Given the description of an element on the screen output the (x, y) to click on. 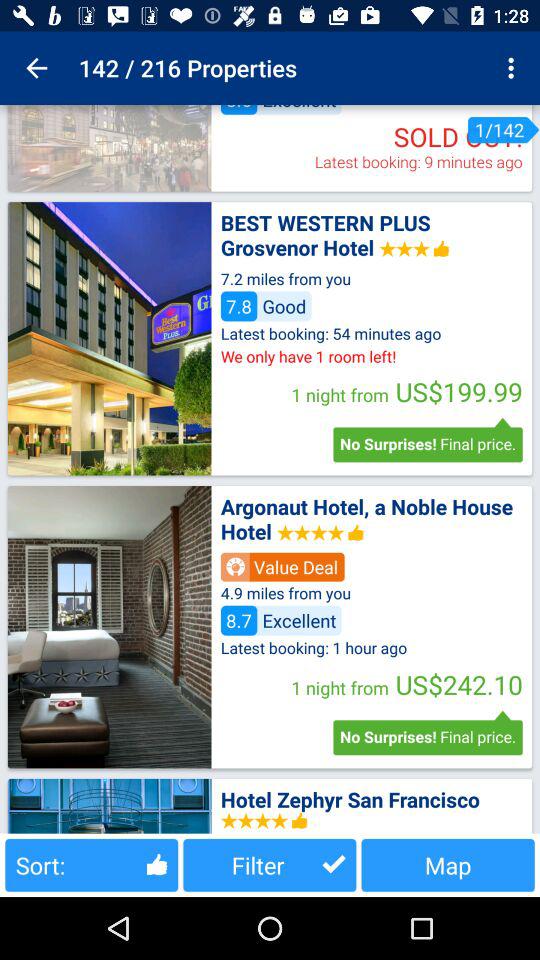
select map item (447, 864)
